Given the description of an element on the screen output the (x, y) to click on. 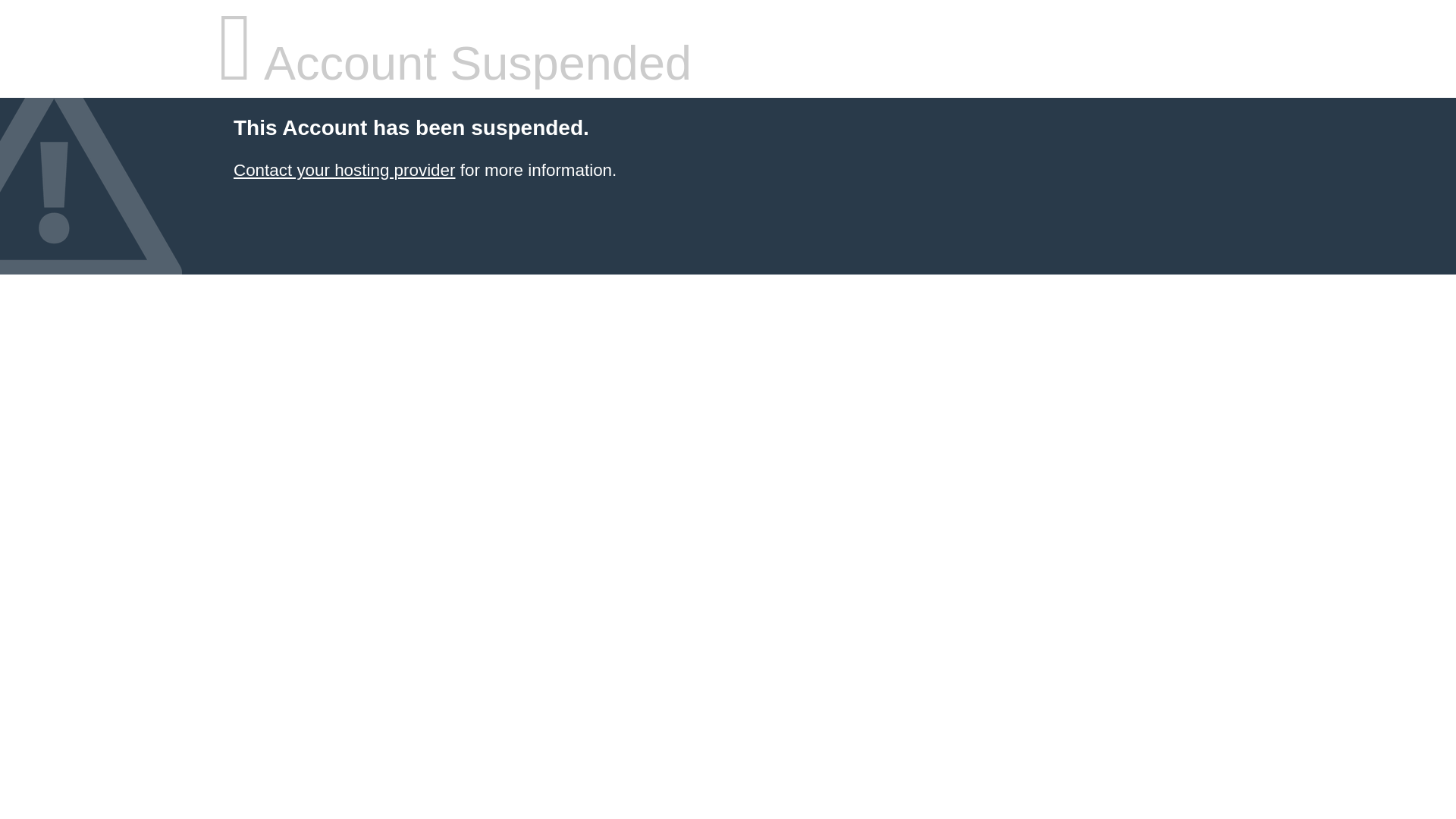
Contact your hosting provider (343, 169)
